Given the description of an element on the screen output the (x, y) to click on. 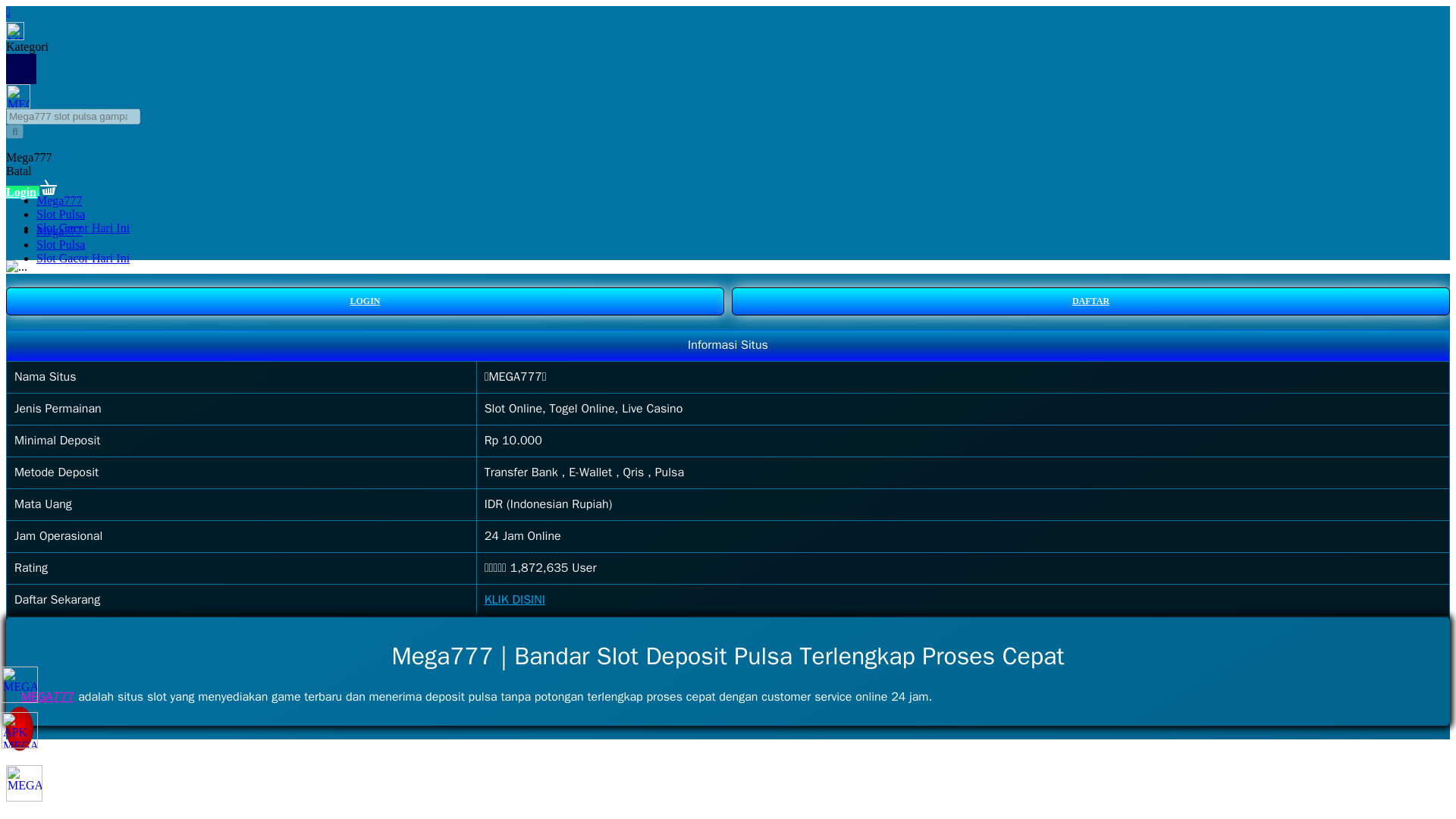
MEGA777 (47, 696)
Slot Gacor Hari Ini (82, 257)
MEGA777 (47, 696)
Slot Pulsa (60, 214)
LOGIN (364, 301)
Pencarian (14, 131)
DAFTAR MEGA777 (514, 599)
Login (22, 192)
Mega777 (58, 200)
Mega777 (27, 156)
